Given the description of an element on the screen output the (x, y) to click on. 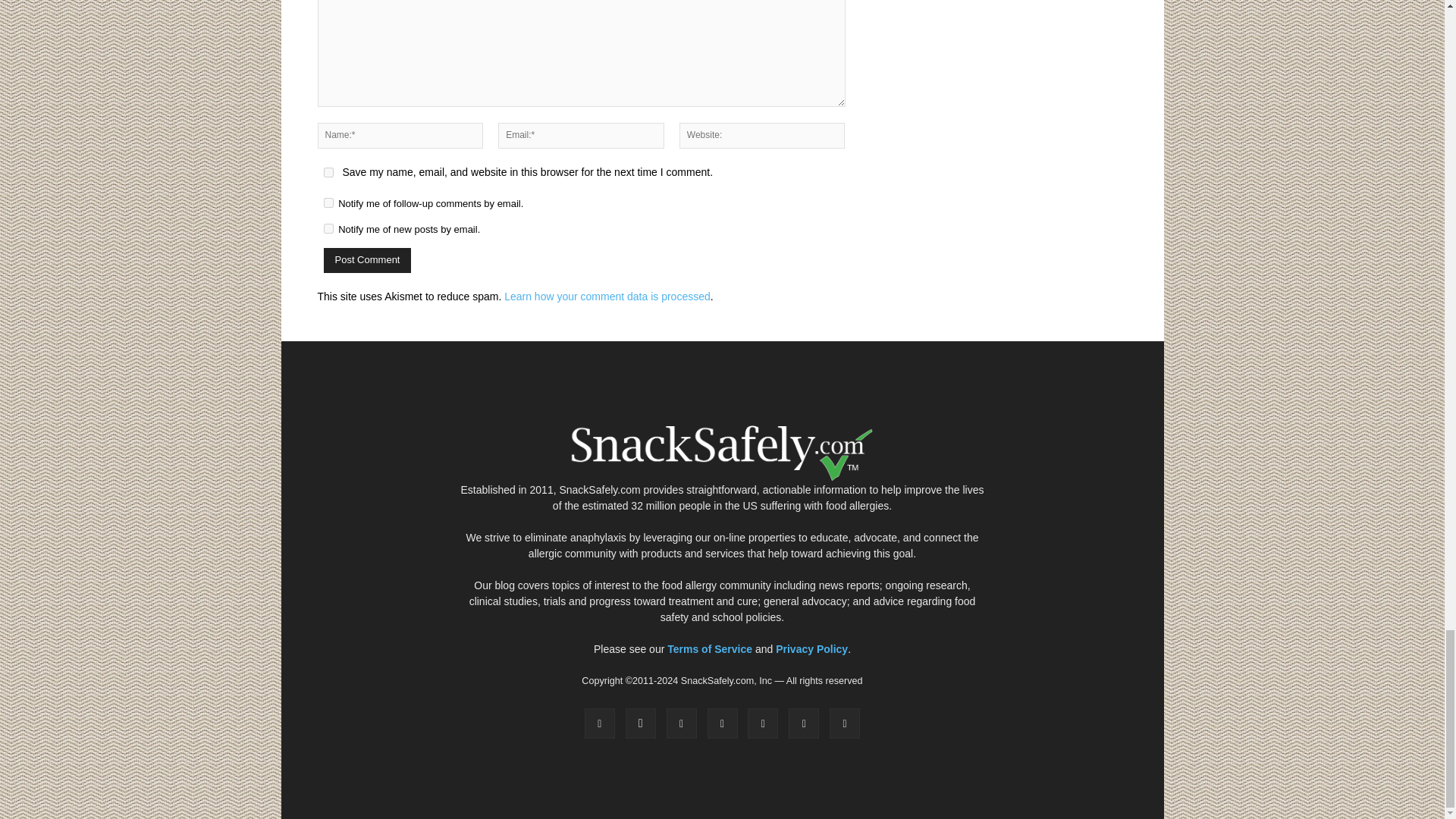
subscribe (328, 203)
yes (328, 172)
subscribe (328, 228)
Post Comment (366, 260)
